Given the description of an element on the screen output the (x, y) to click on. 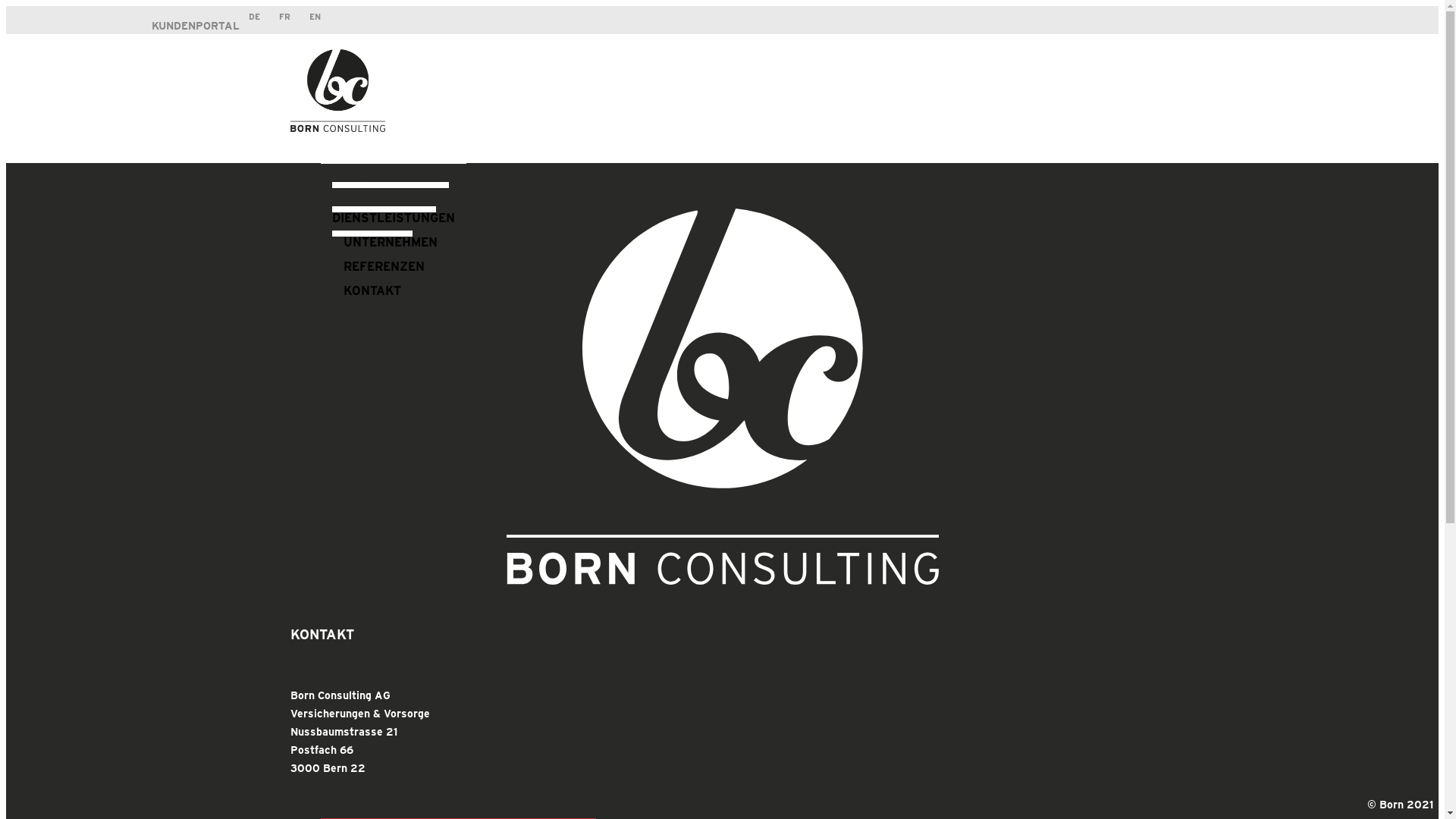
Born Consulting Logo Element type: hover (722, 396)
EN Element type: text (315, 15)
DIENSTLEISTUNGEN Element type: text (392, 210)
FR Element type: text (284, 15)
UNTERNEHMEN Element type: text (390, 235)
Logo Element type: hover (336, 90)
Direkt zum Inhalt Element type: text (722, 7)
DE Element type: text (254, 15)
KONTAKT Element type: text (372, 283)
KUNDENPORTAL Element type: text (195, 25)
Zur Startseite Element type: hover (336, 126)
REFERENZEN Element type: text (384, 259)
